Given the description of an element on the screen output the (x, y) to click on. 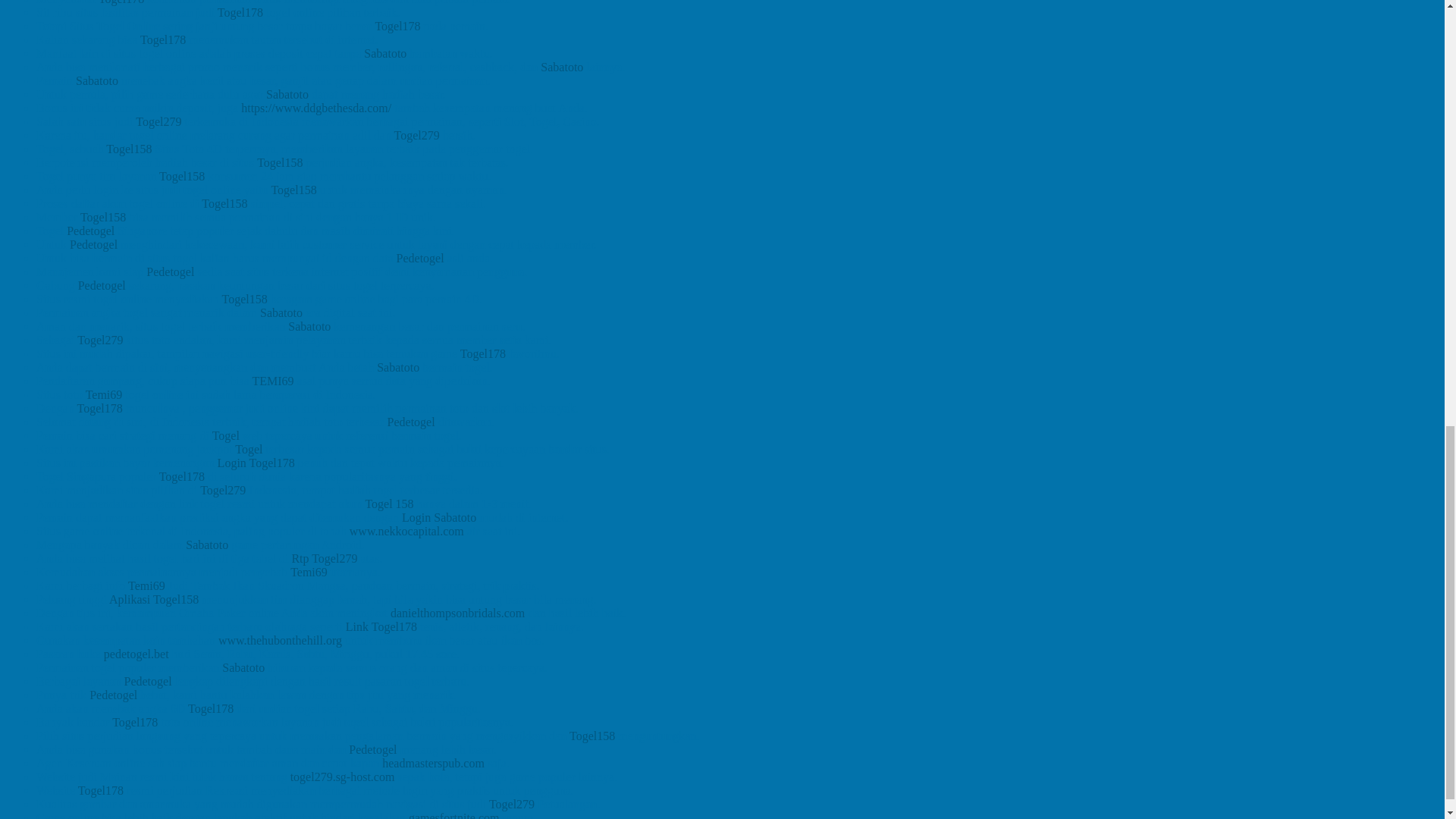
Sabatoto (385, 52)
Togel158 (181, 175)
Togel158 (279, 162)
Togel178 (239, 11)
Togel279 (157, 121)
Sabatoto (287, 93)
Togel158 (292, 189)
Togel178 (162, 39)
Togel178 (397, 25)
Sabatoto (561, 66)
Sabatoto (96, 80)
Togel178 (121, 2)
Togel158 (128, 148)
Togel279 (416, 134)
